Given the description of an element on the screen output the (x, y) to click on. 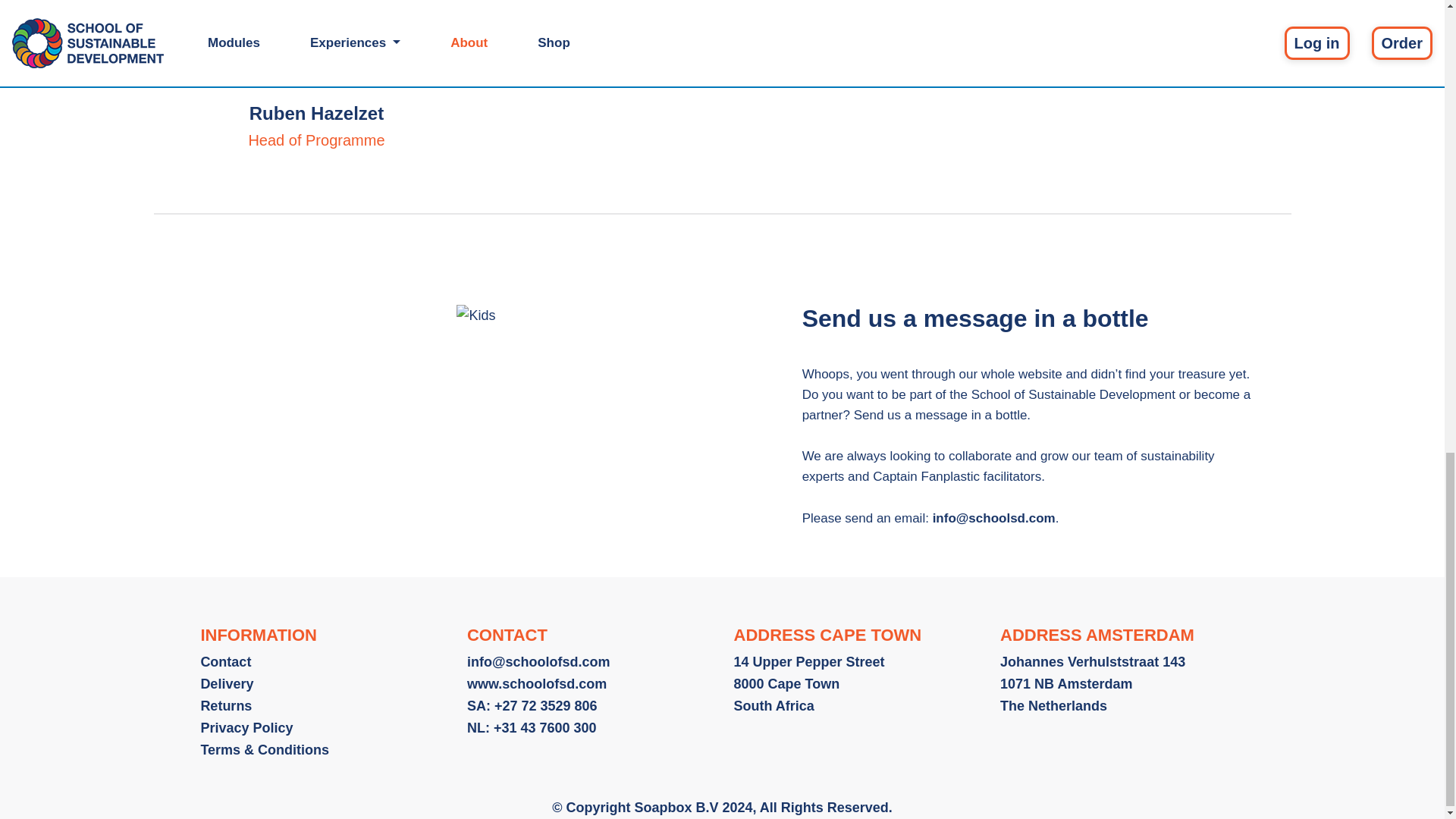
Returns (225, 705)
Contact (225, 661)
Privacy Policy (246, 727)
Delivery (226, 683)
